Given the description of an element on the screen output the (x, y) to click on. 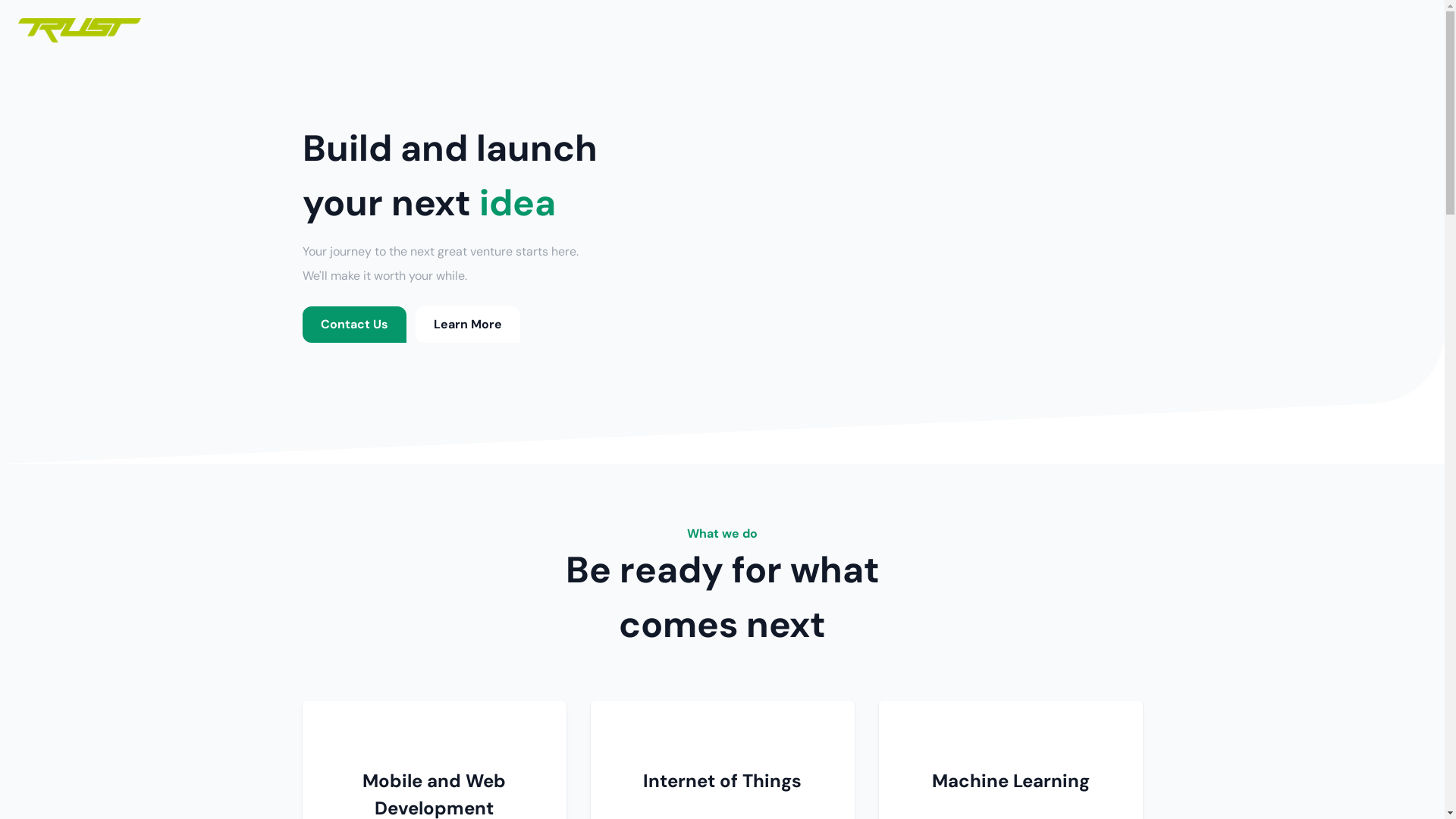
Contact Us Element type: text (353, 324)
Learn More Element type: text (467, 324)
